Given the description of an element on the screen output the (x, y) to click on. 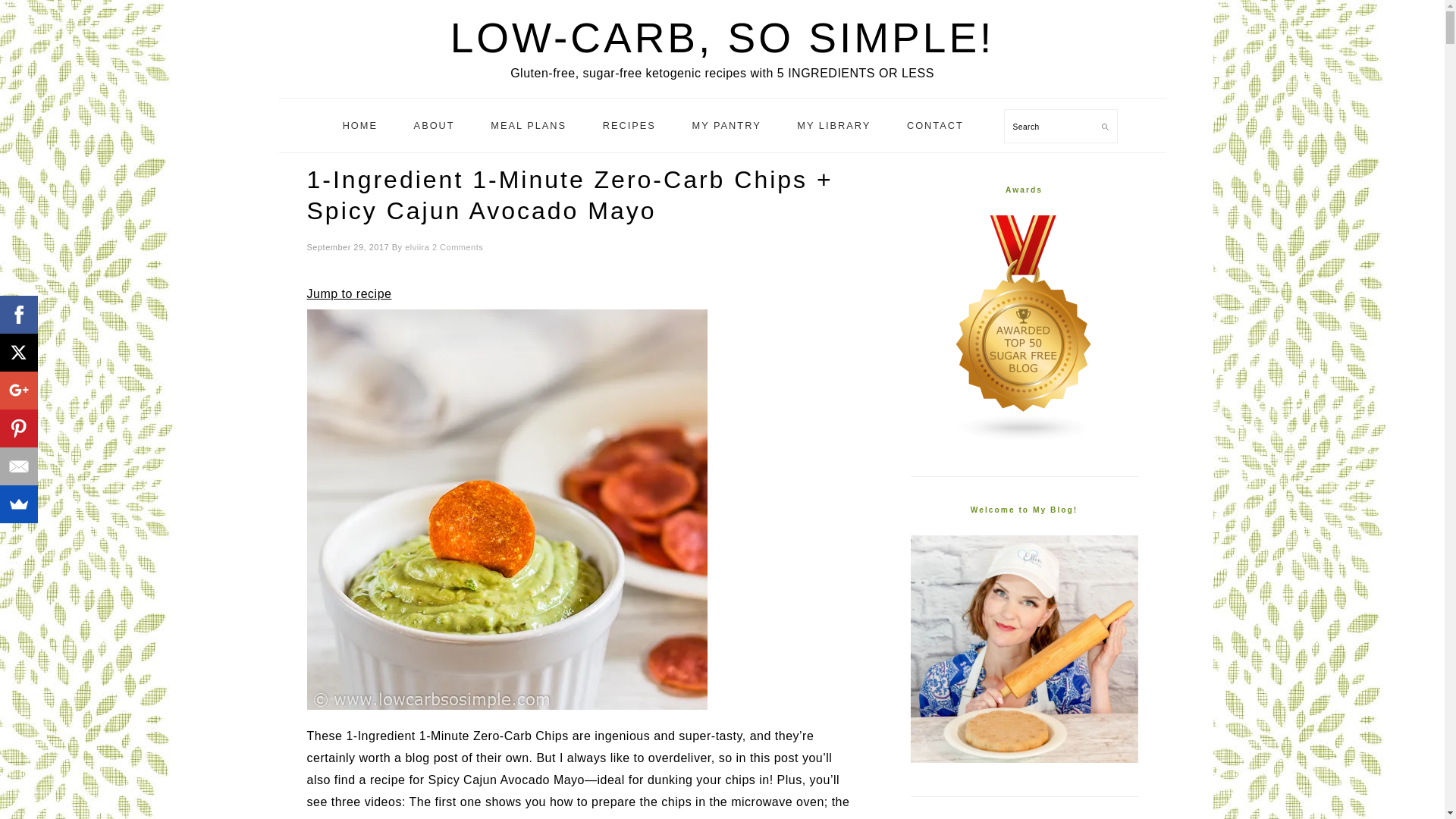
MEAL PLANS (528, 125)
MY PANTRY (725, 125)
ABOUT (433, 125)
MY LIBRARY (833, 125)
CONTACT (935, 125)
elviira (416, 246)
HOME (359, 125)
Jump to recipe (348, 293)
RECIPES (628, 125)
2 Comments (457, 246)
LOW-CARB, SO SIMPLE! (721, 37)
